Given the description of an element on the screen output the (x, y) to click on. 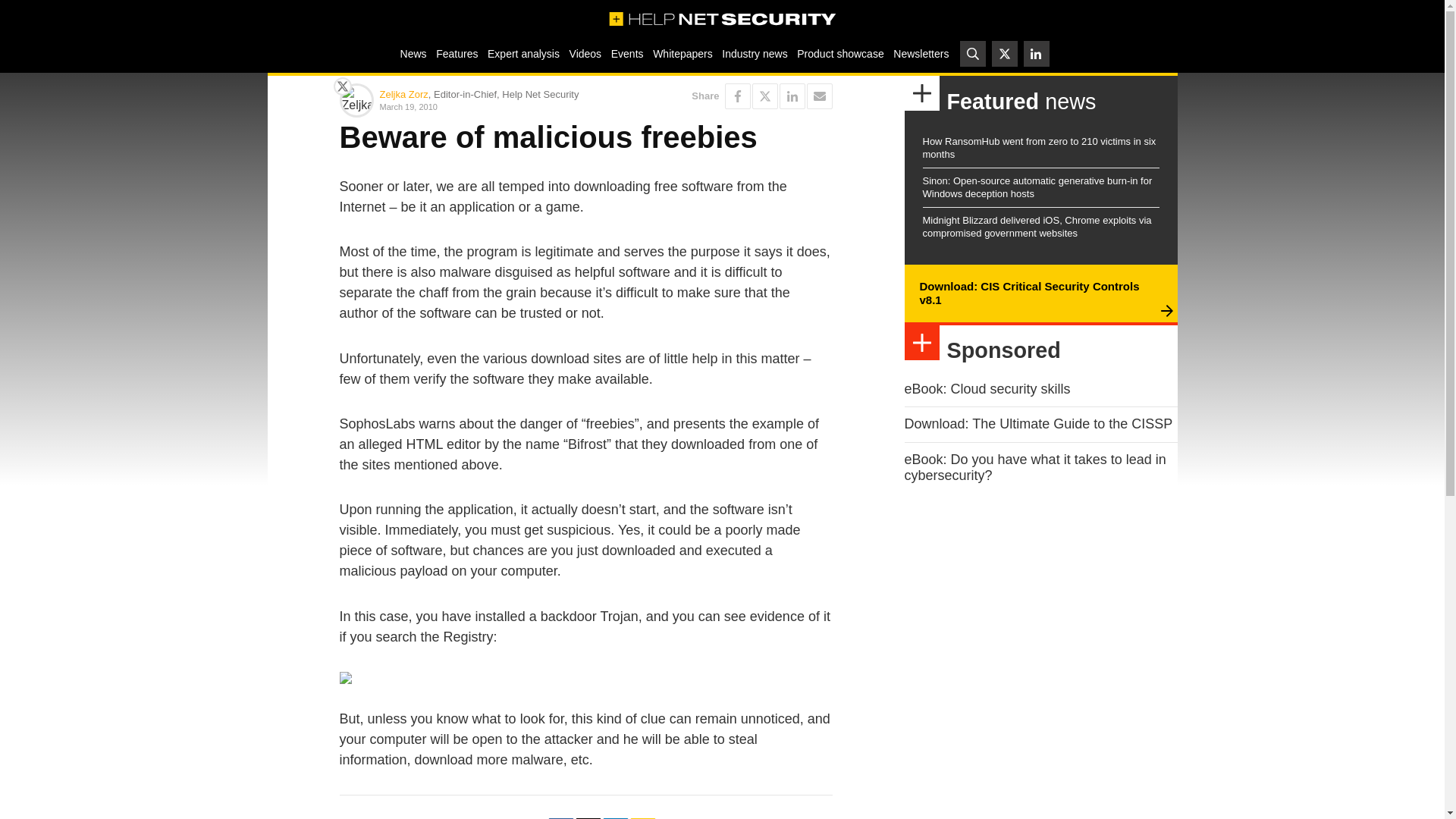
Zeljka Zorz (403, 93)
Newsletters (920, 53)
News (412, 53)
Share Beware of malicious freebies on Facebook (738, 95)
Download: The Ultimate Guide to the CISSP (1038, 423)
Expert analysis (523, 53)
